Given the description of an element on the screen output the (x, y) to click on. 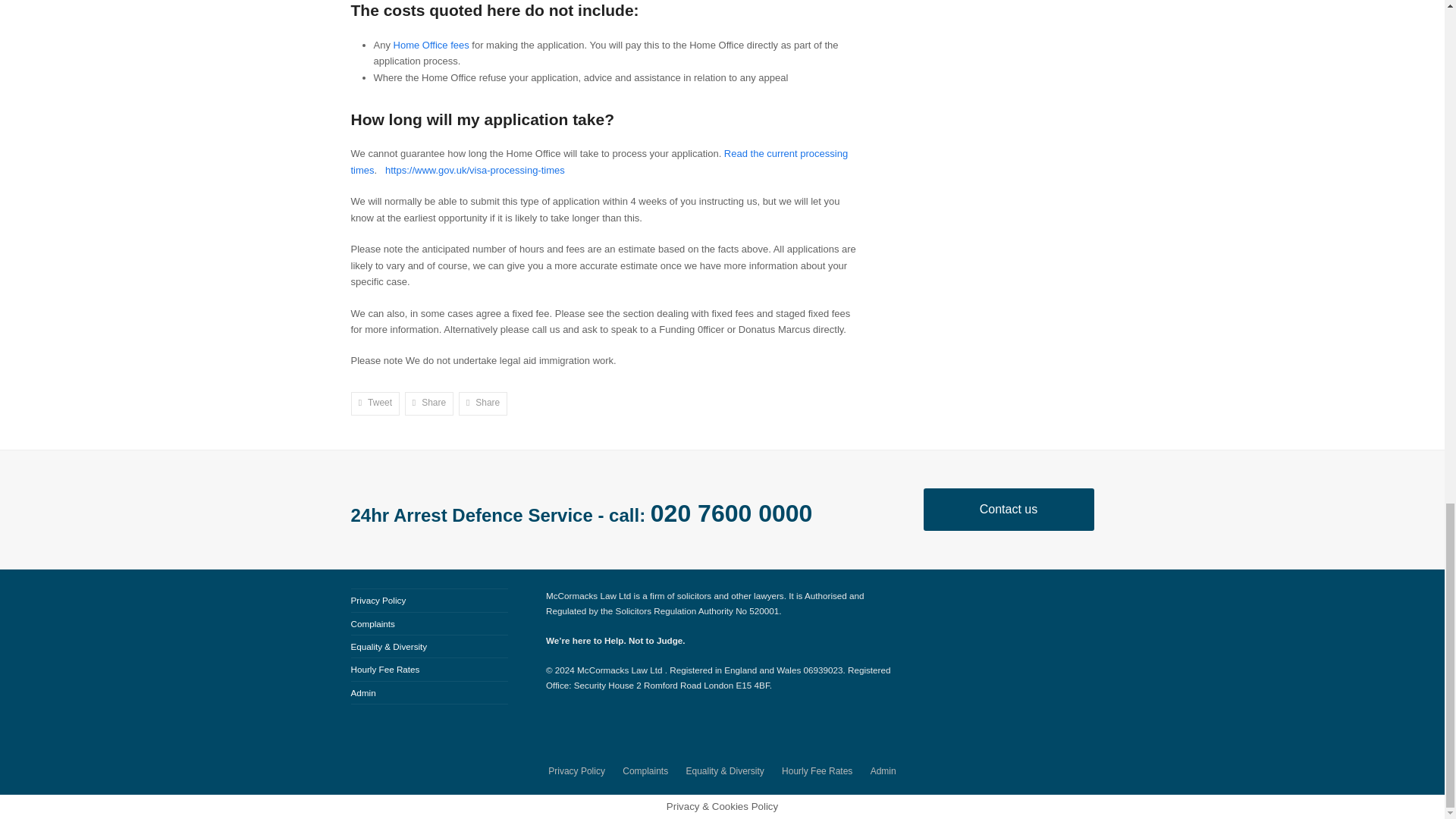
Home Office fees (430, 44)
Admin (362, 692)
Share (429, 403)
Tweet (374, 403)
Read the current processing times (598, 161)
Contact us (1008, 509)
Privacy Policy (576, 770)
Complaints (645, 770)
Complaints (372, 623)
Hourly Fee Rates (384, 669)
